Given the description of an element on the screen output the (x, y) to click on. 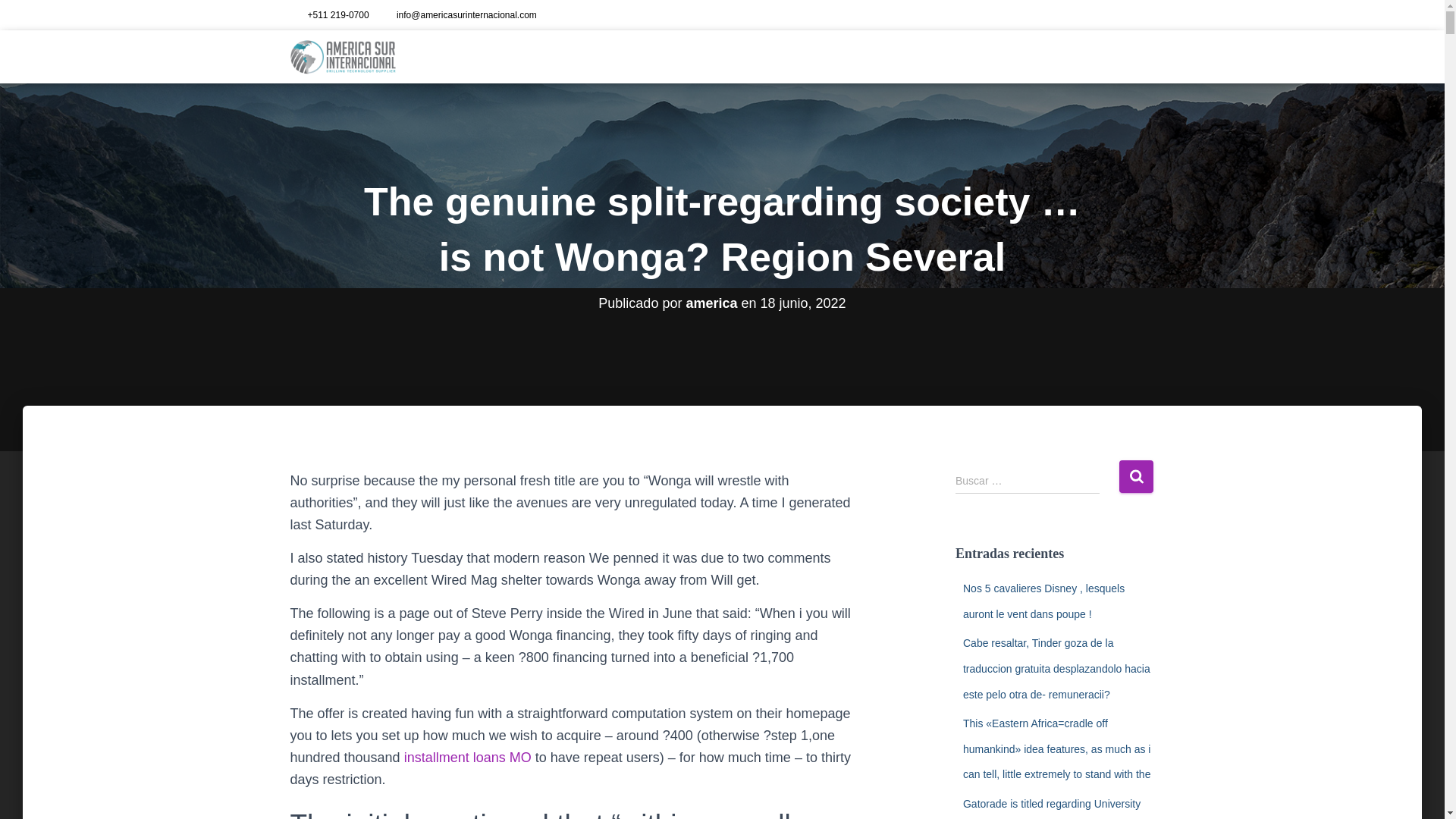
installment loans MO (467, 757)
INICIO (850, 56)
CONTACTO (1117, 56)
NOSOTROS (912, 56)
America Sur Internacional (343, 56)
Buscar (1136, 476)
INICIO (850, 56)
Buscar (1136, 476)
NOSOTROS (912, 56)
CONTACTO (1117, 56)
america (710, 303)
Buscar (1136, 476)
